Given the description of an element on the screen output the (x, y) to click on. 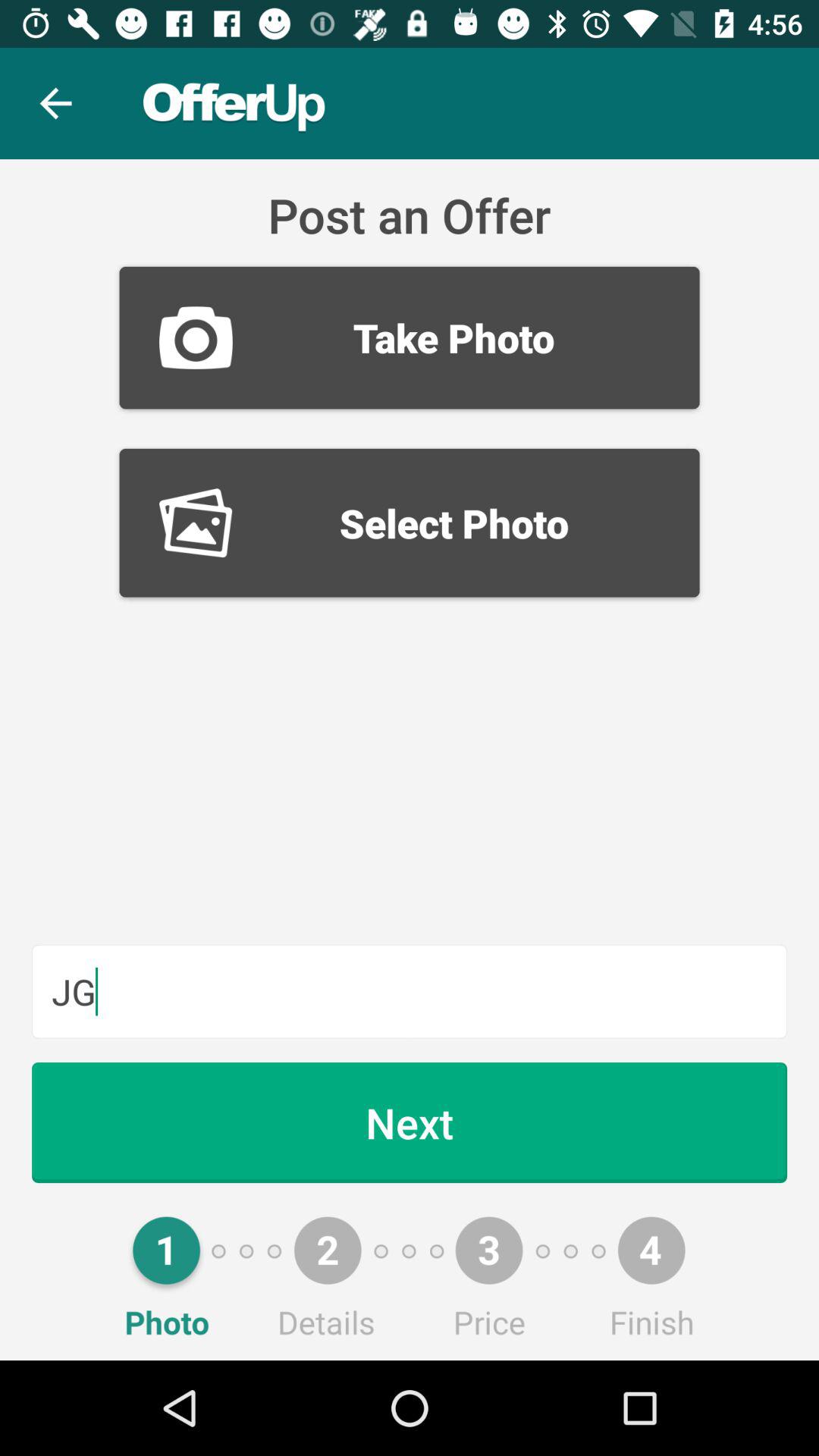
select the select photo at the center (409, 522)
